Given the description of an element on the screen output the (x, y) to click on. 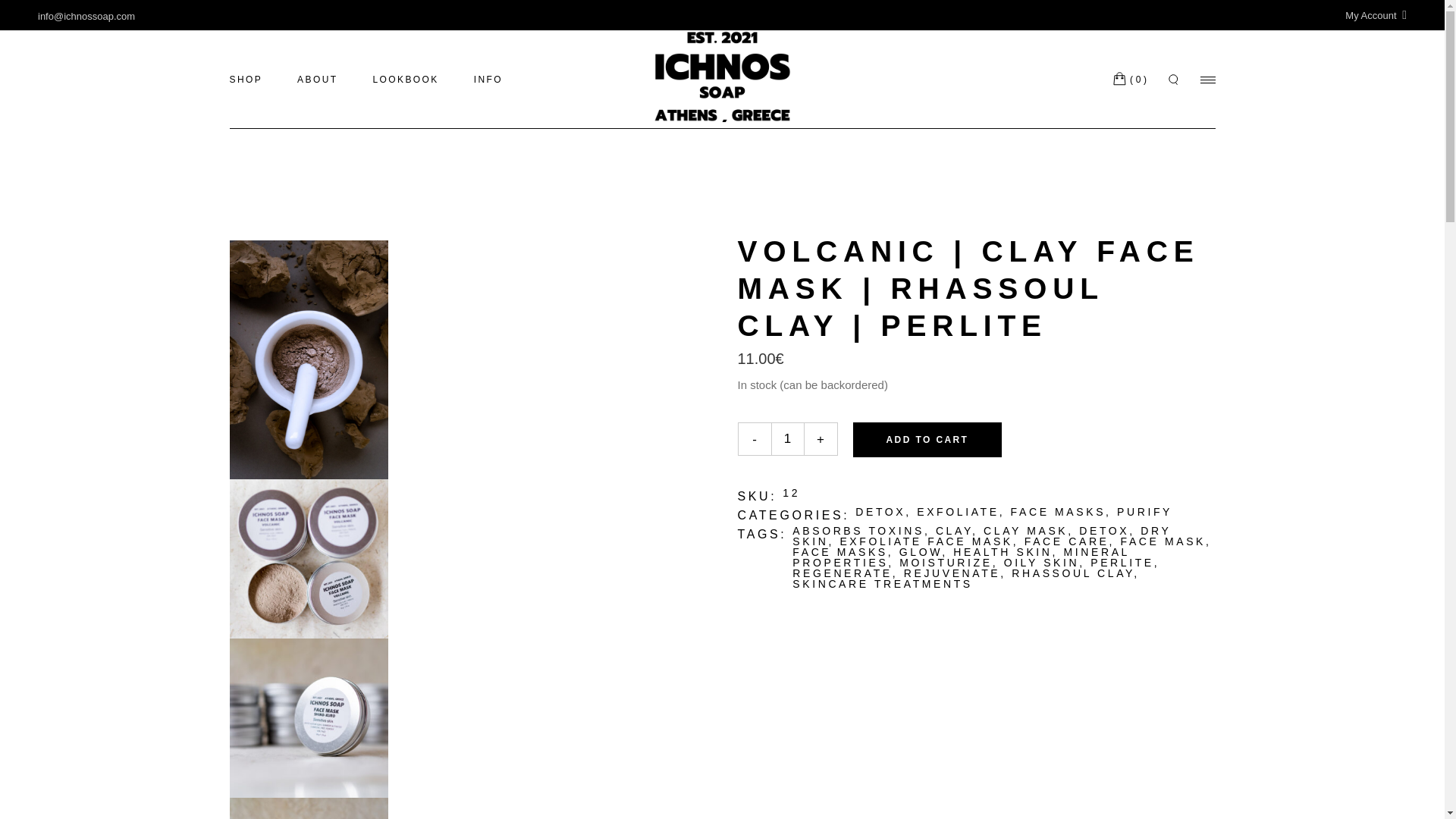
KA706947 (308, 808)
My Account (1375, 15)
KA706908 (308, 717)
1 (786, 438)
Qty (786, 438)
KA706935 (308, 558)
